Given the description of an element on the screen output the (x, y) to click on. 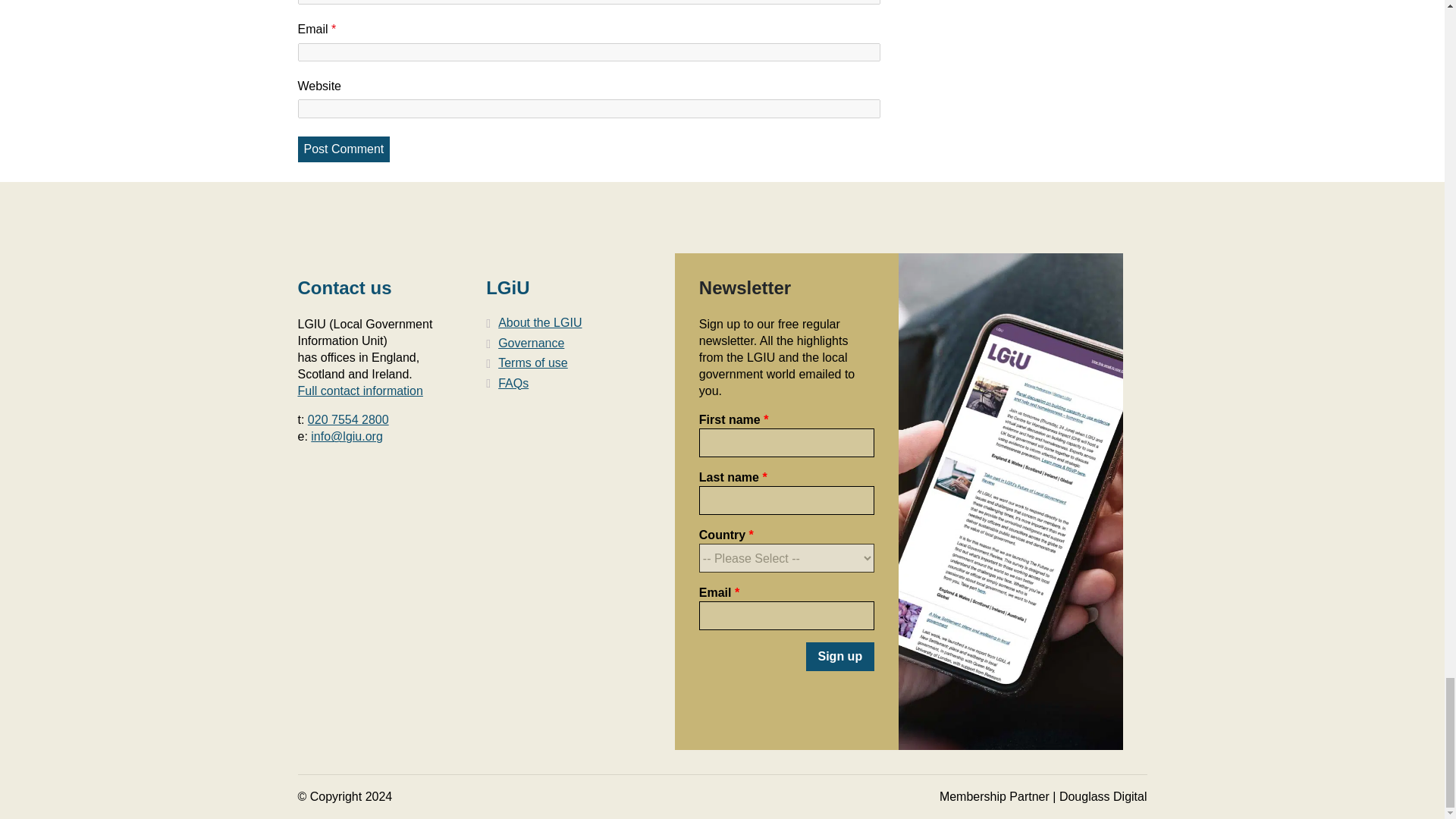
Post Comment (343, 149)
Sign up (840, 656)
